Given the description of an element on the screen output the (x, y) to click on. 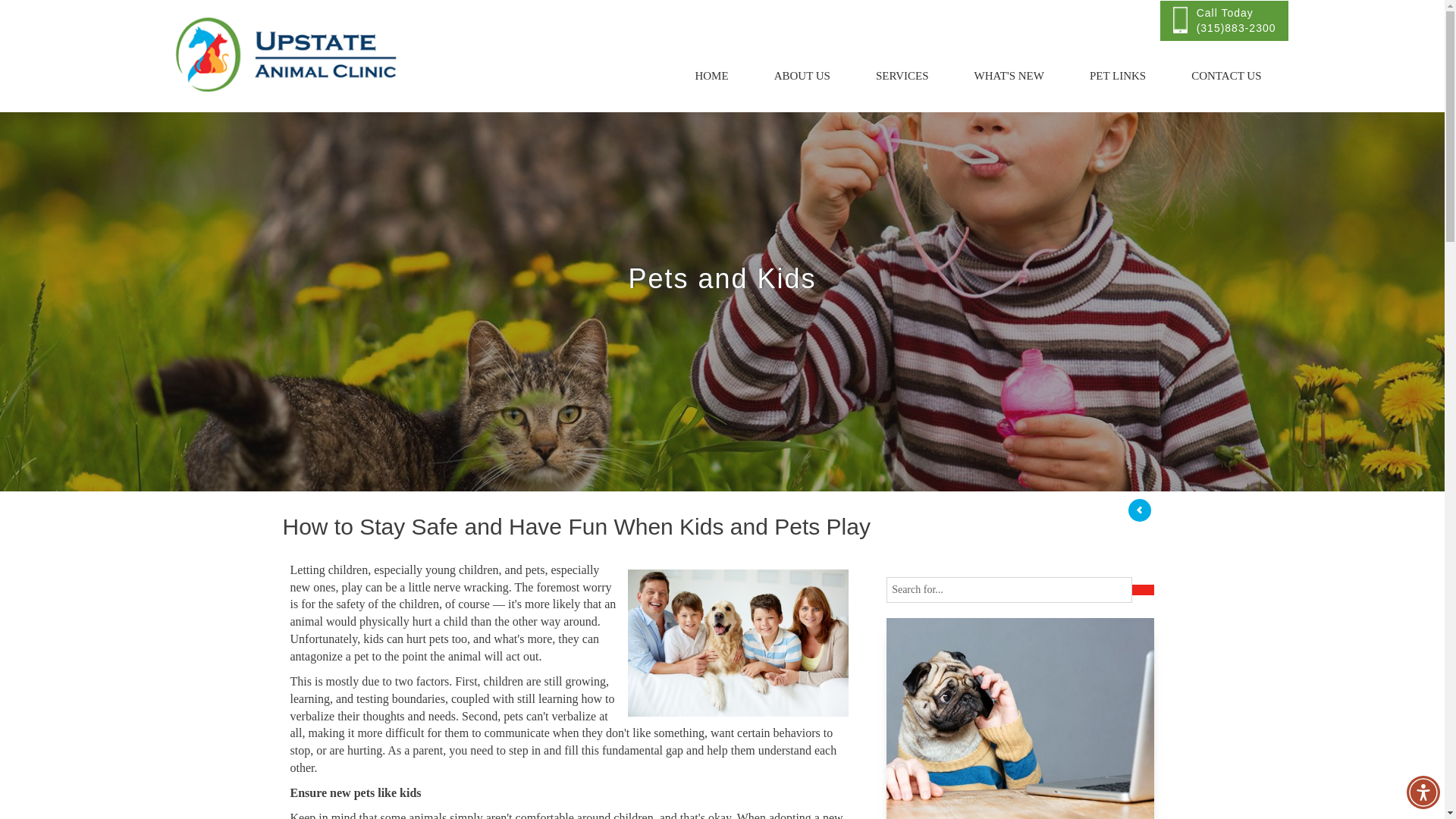
WHAT'S NEW (1009, 75)
Accessibility Menu (1422, 792)
HOME (711, 75)
SERVICES (902, 75)
PET LINKS (1118, 75)
CONTACT US (1226, 75)
ABOUT US (802, 75)
